Given the description of an element on the screen output the (x, y) to click on. 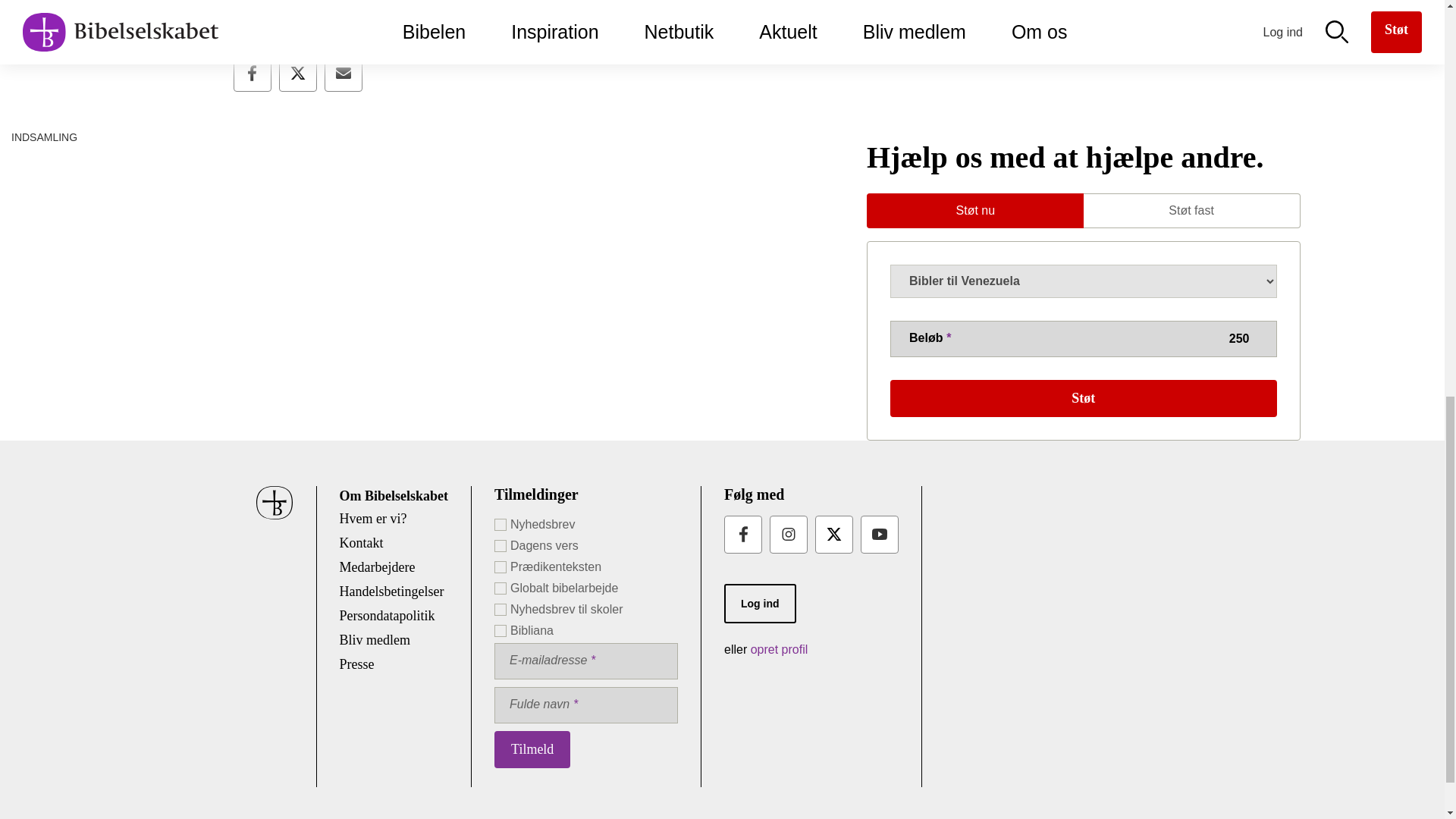
Tilmeld (532, 749)
1 (499, 574)
4 (499, 574)
Venezuela: Enormt behov for bibler! (361, 133)
250 (1082, 339)
2 (499, 574)
16 (499, 574)
Hvem er Bibelselskabet? (373, 518)
Kontakt (361, 542)
Share on facebook (251, 72)
